Given the description of an element on the screen output the (x, y) to click on. 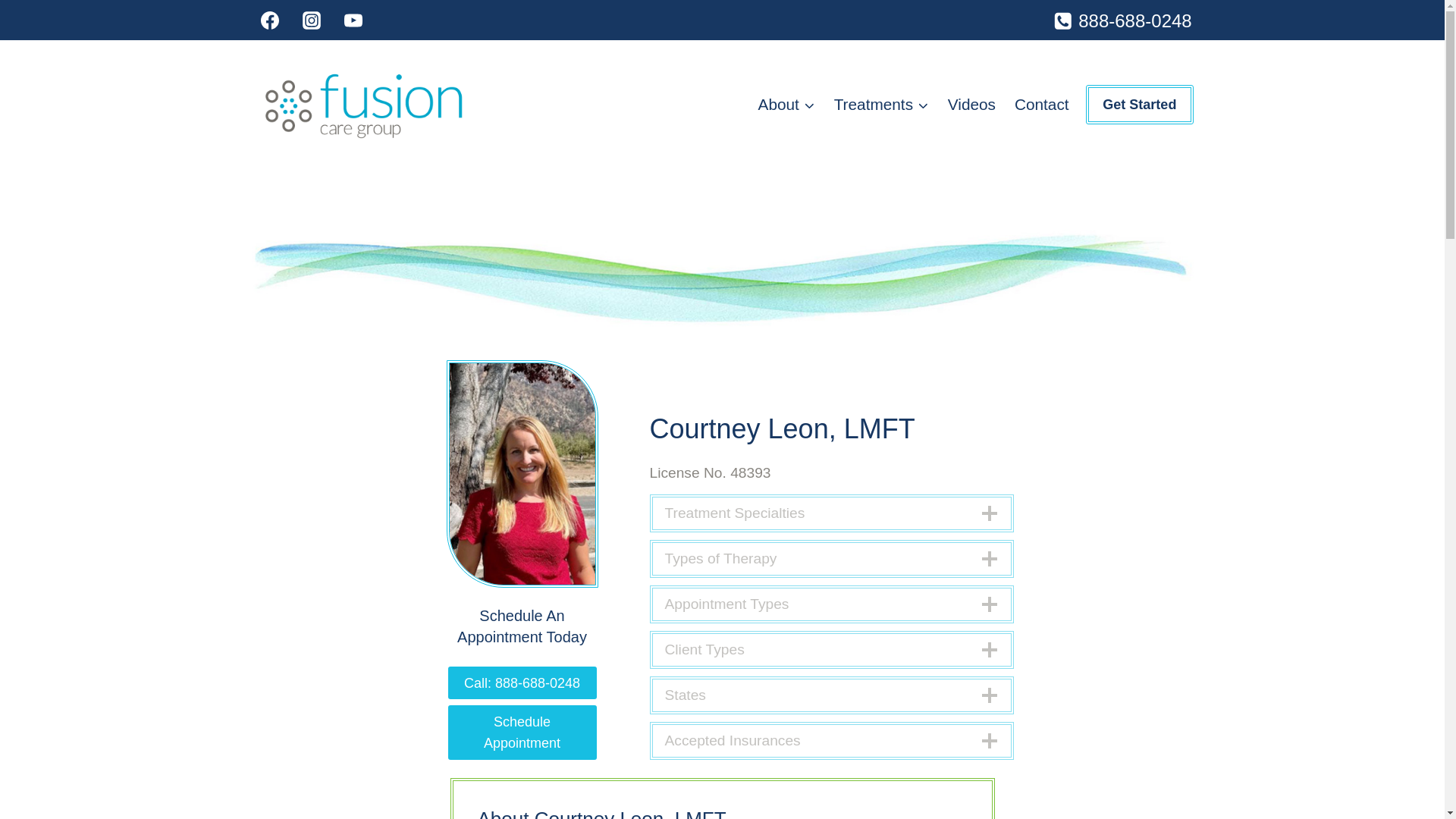
Schedule Appointment (520, 732)
Contact (1041, 104)
Treatments (880, 104)
Types of Therapy (831, 558)
Get Started (1139, 104)
Treatment Specialties (831, 513)
About (786, 104)
888-688-0248 (1121, 21)
Call: 888-688-0248 (520, 682)
Videos (970, 104)
